Given the description of an element on the screen output the (x, y) to click on. 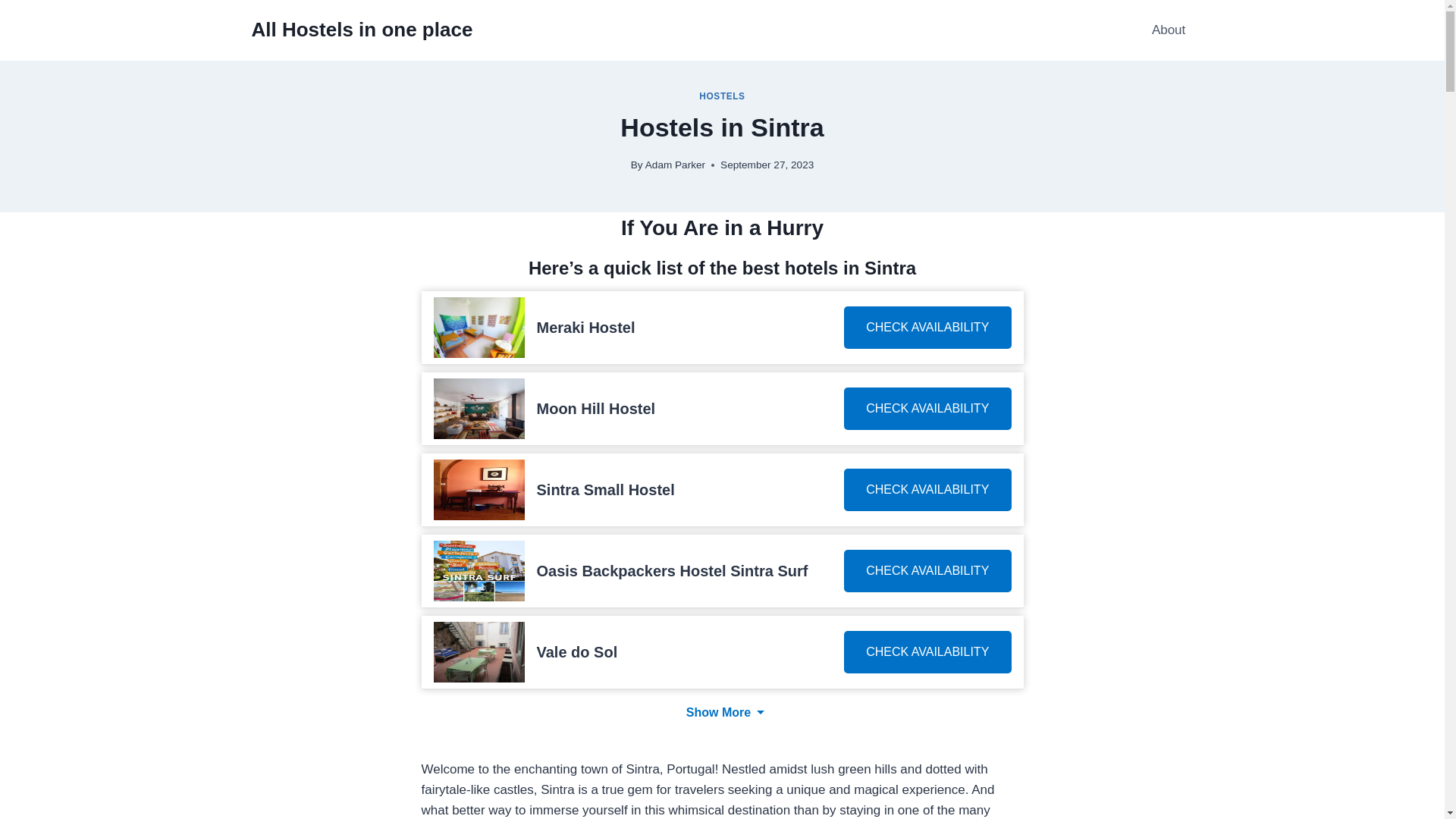
About (1168, 30)
Adam Parker (674, 164)
All Hostels in one place (362, 29)
HOSTELS (721, 95)
